Given the description of an element on the screen output the (x, y) to click on. 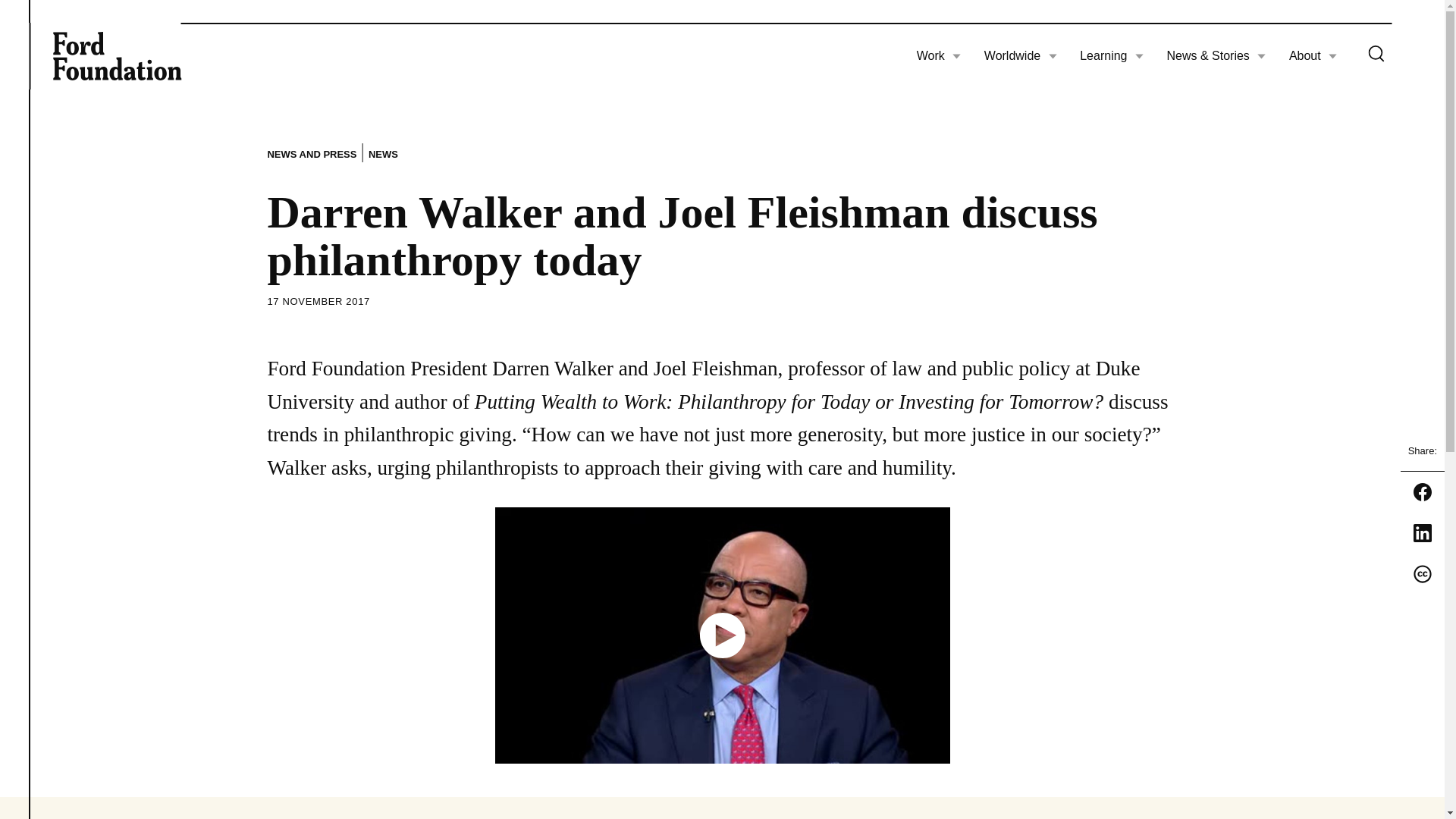
Darren Walker and Joel Fleishman - video (722, 634)
Learning (1111, 55)
Work (938, 55)
Worldwide (1020, 55)
